Given the description of an element on the screen output the (x, y) to click on. 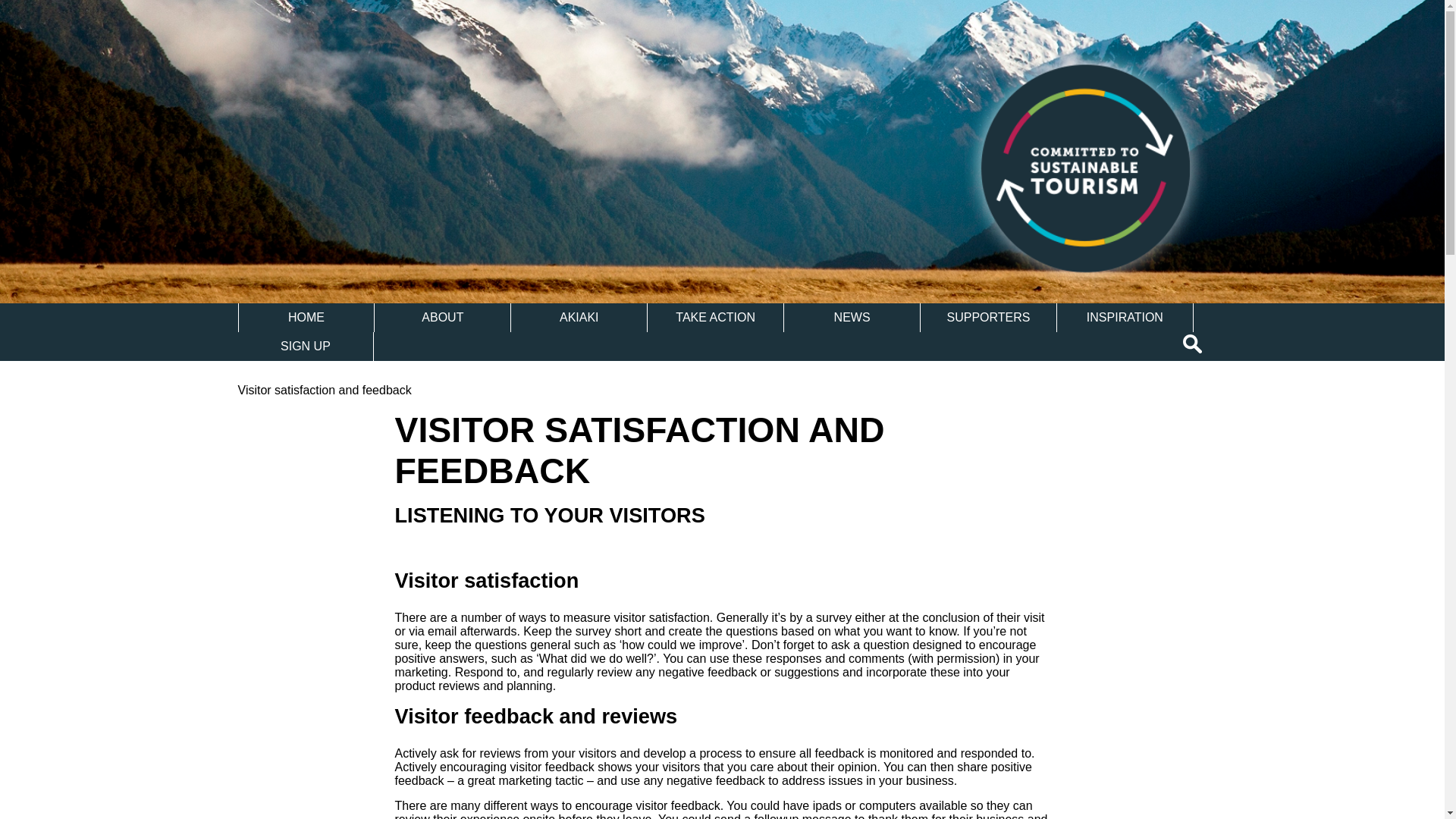
Search (1194, 343)
INSPIRATION (1124, 317)
TAKE ACTION (715, 317)
Search (1194, 343)
NEWS (852, 317)
AKIAKI (578, 317)
SUPPORTERS (988, 317)
SIGN UP (306, 346)
ABOUT (442, 317)
HOME (306, 317)
